Given the description of an element on the screen output the (x, y) to click on. 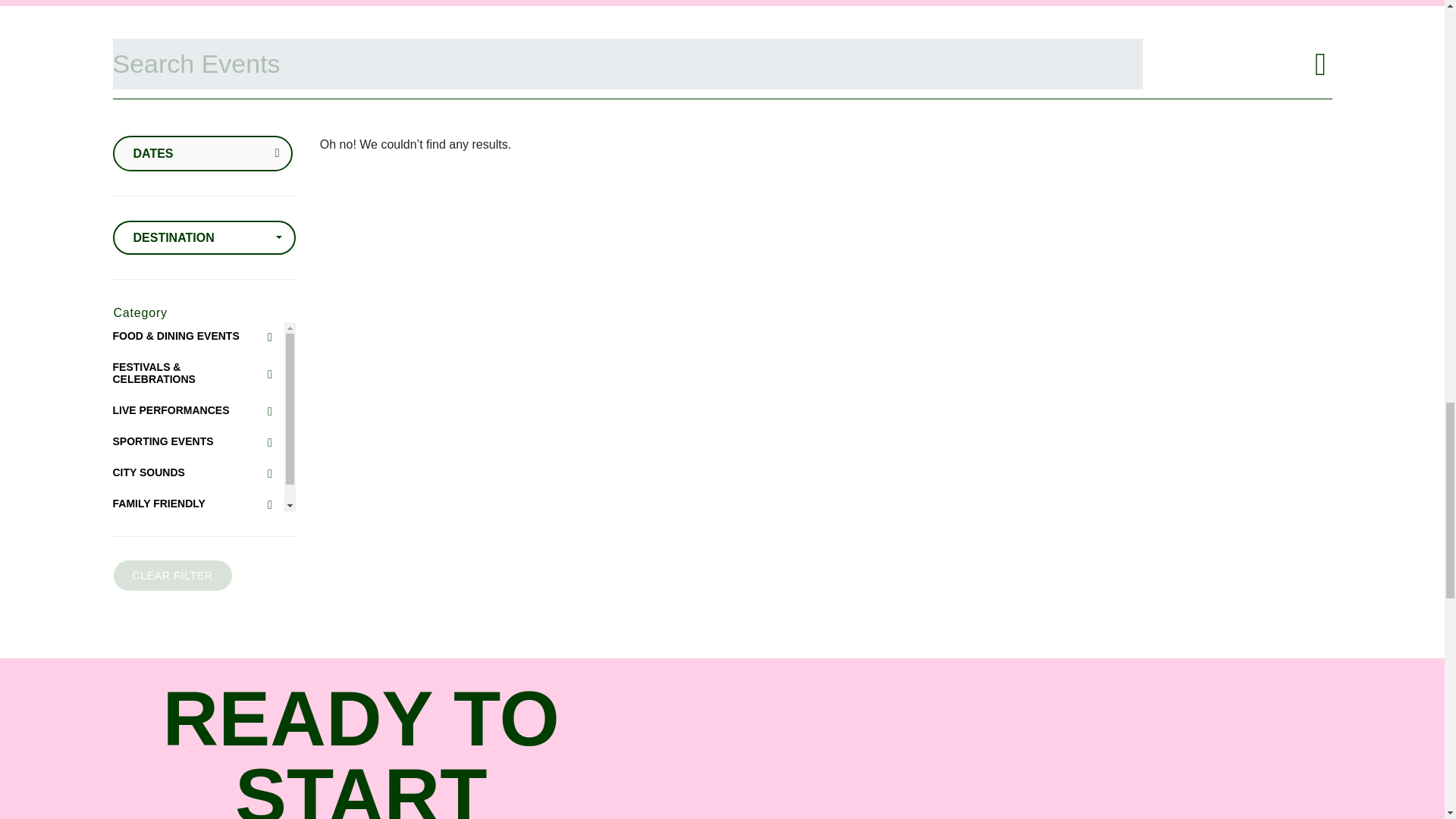
DESTINATION (203, 237)
Category (139, 312)
CLEAR FILTER (171, 575)
